Given the description of an element on the screen output the (x, y) to click on. 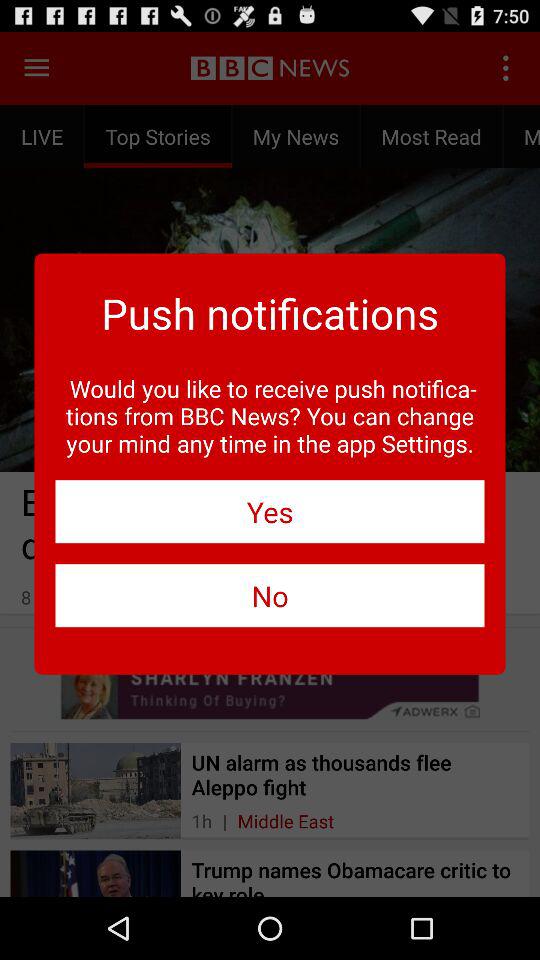
turn on the item below the yes item (269, 595)
